Given the description of an element on the screen output the (x, y) to click on. 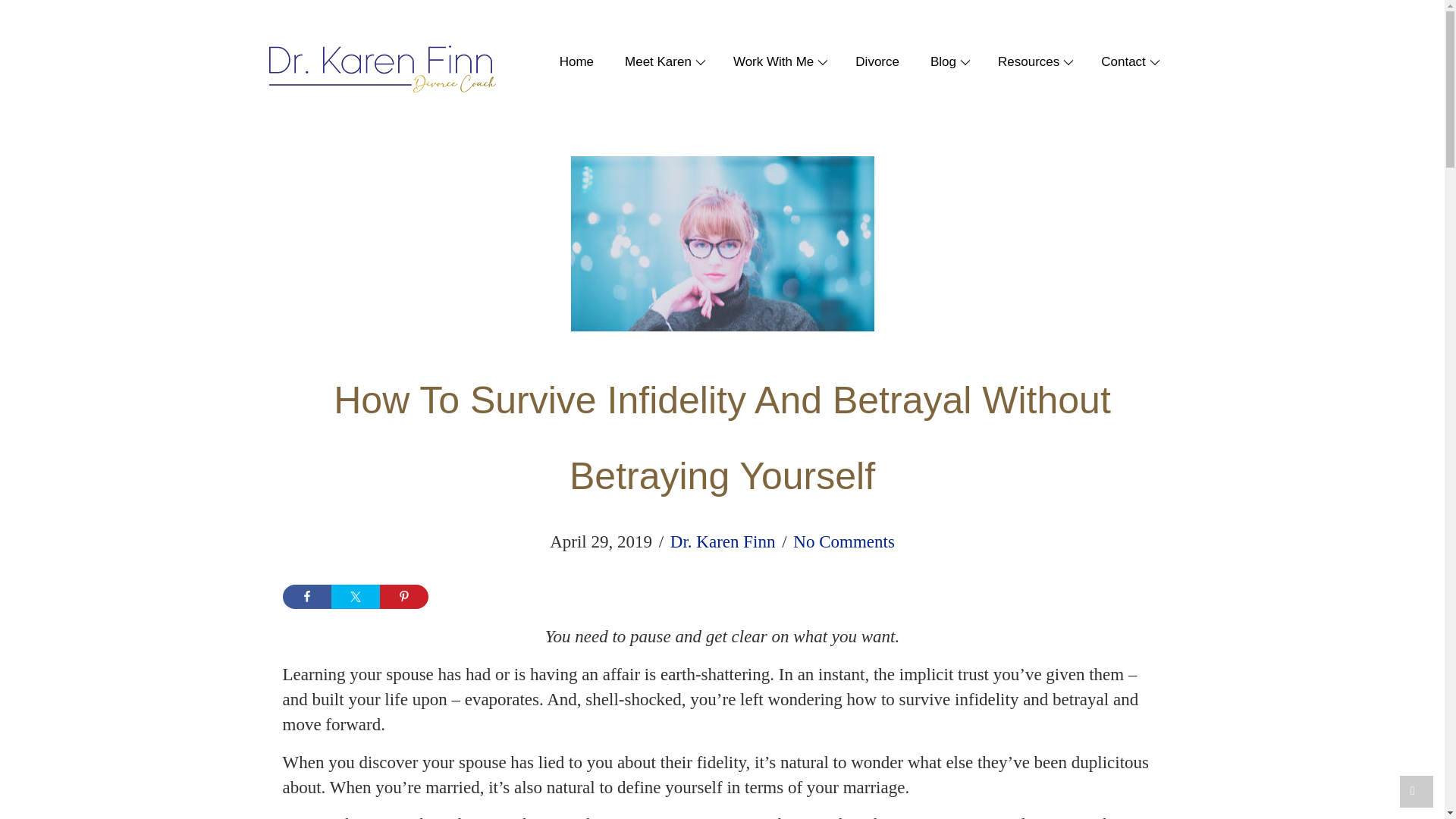
Work With Me (770, 61)
Share on Pinterest (403, 596)
Logo-Dr-Karen-Finn (381, 70)
Share on Twitter (354, 596)
Meet Karen (656, 61)
Home (569, 61)
Contact (1120, 61)
Dr. Karen Finn (722, 541)
Blog (940, 61)
